Given the description of an element on the screen output the (x, y) to click on. 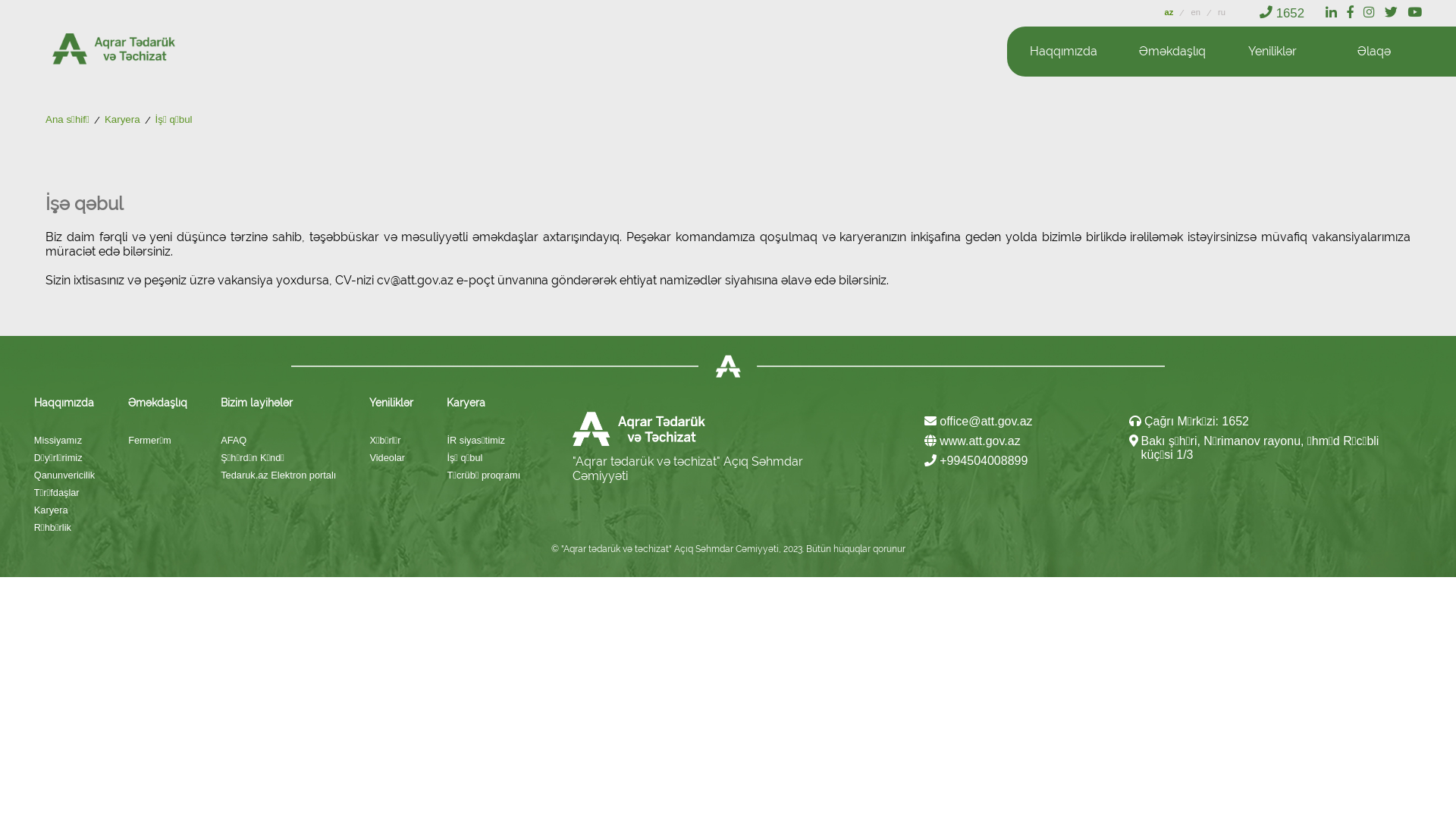
Videolar Element type: text (391, 457)
+994504008899 Element type: text (976, 460)
www.att.gov.az Element type: text (972, 441)
Qanunvericilik Element type: text (64, 474)
office@att.gov.az Element type: text (978, 421)
az Element type: text (1170, 11)
1652 Element type: text (1281, 13)
Karyera Element type: text (122, 120)
AFAQ Element type: text (277, 439)
ru Element type: text (1221, 11)
Karyera Element type: text (64, 509)
en Element type: text (1196, 11)
